Given the description of an element on the screen output the (x, y) to click on. 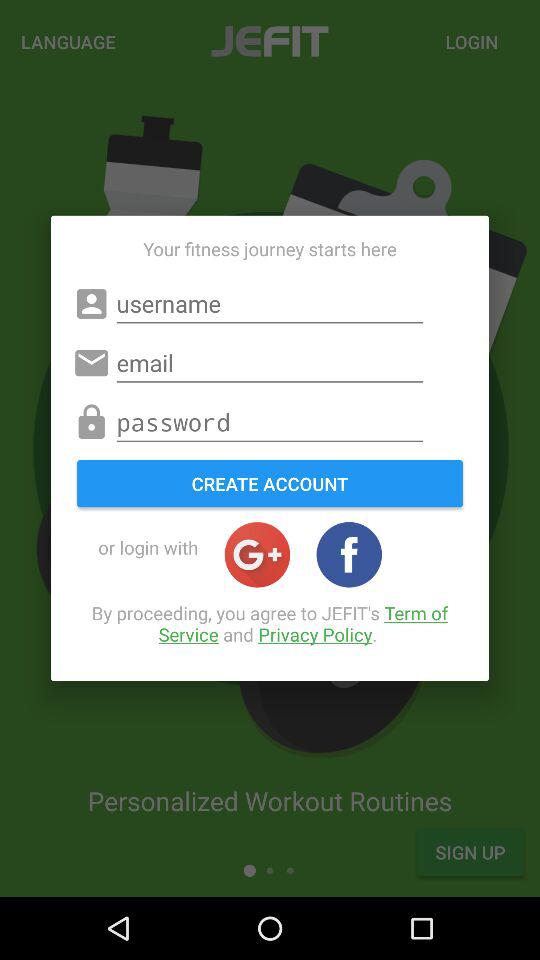
email (269, 363)
